Given the description of an element on the screen output the (x, y) to click on. 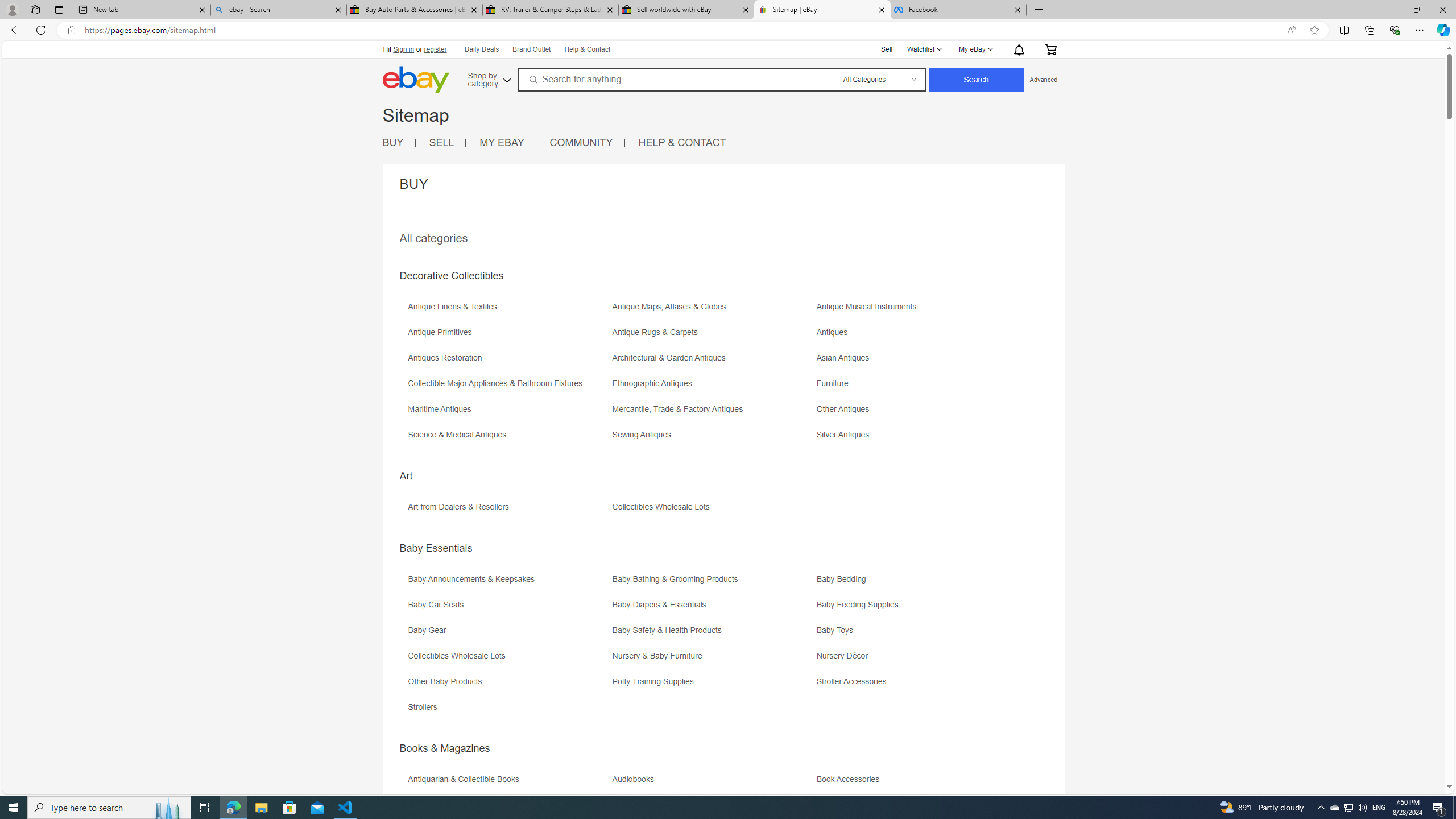
Mercantile, Trade & Factory Antiques (712, 412)
Antiques Restoration (447, 357)
HELP & CONTACT (681, 142)
Baby Safety & Health Products (712, 634)
Stroller Accessories (854, 681)
Baby Essentials (435, 547)
Baby Feeding Supplies (917, 608)
Sitemap | eBay (822, 9)
Other Baby Products (447, 681)
Baby Bathing & Grooming Products (712, 582)
New Tab (1038, 9)
SELL (447, 142)
Watchlist (923, 49)
My eBayExpand My eBay (975, 49)
Workspaces (34, 9)
